Given the description of an element on the screen output the (x, y) to click on. 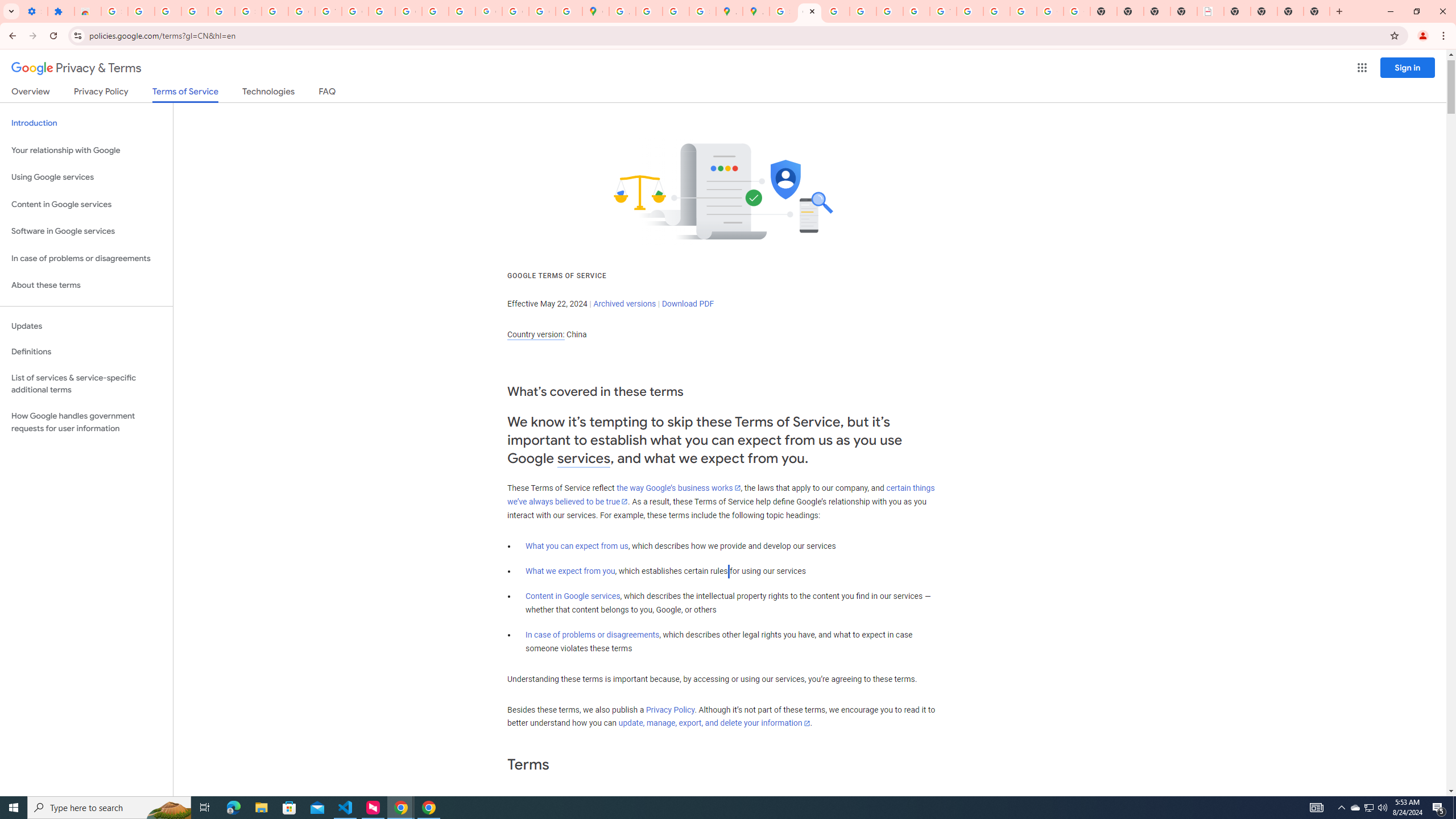
Using Google services (86, 176)
Privacy Help Center - Policies Help (862, 11)
Privacy Help Center - Policies Help (836, 11)
